Given the description of an element on the screen output the (x, y) to click on. 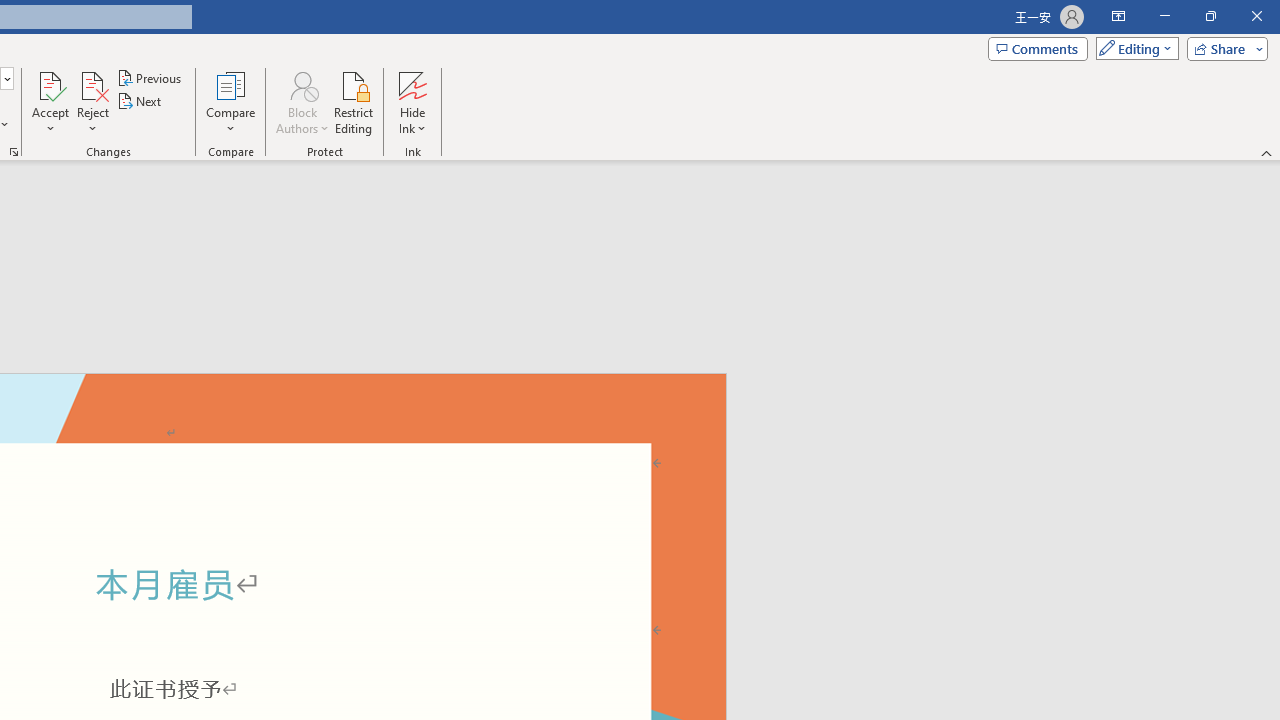
Accept (50, 102)
Accept and Move to Next (50, 84)
Block Authors (302, 102)
Reject (92, 102)
Hide Ink (412, 84)
Reject and Move to Next (92, 84)
Compare (230, 102)
Hide Ink (412, 102)
